Given the description of an element on the screen output the (x, y) to click on. 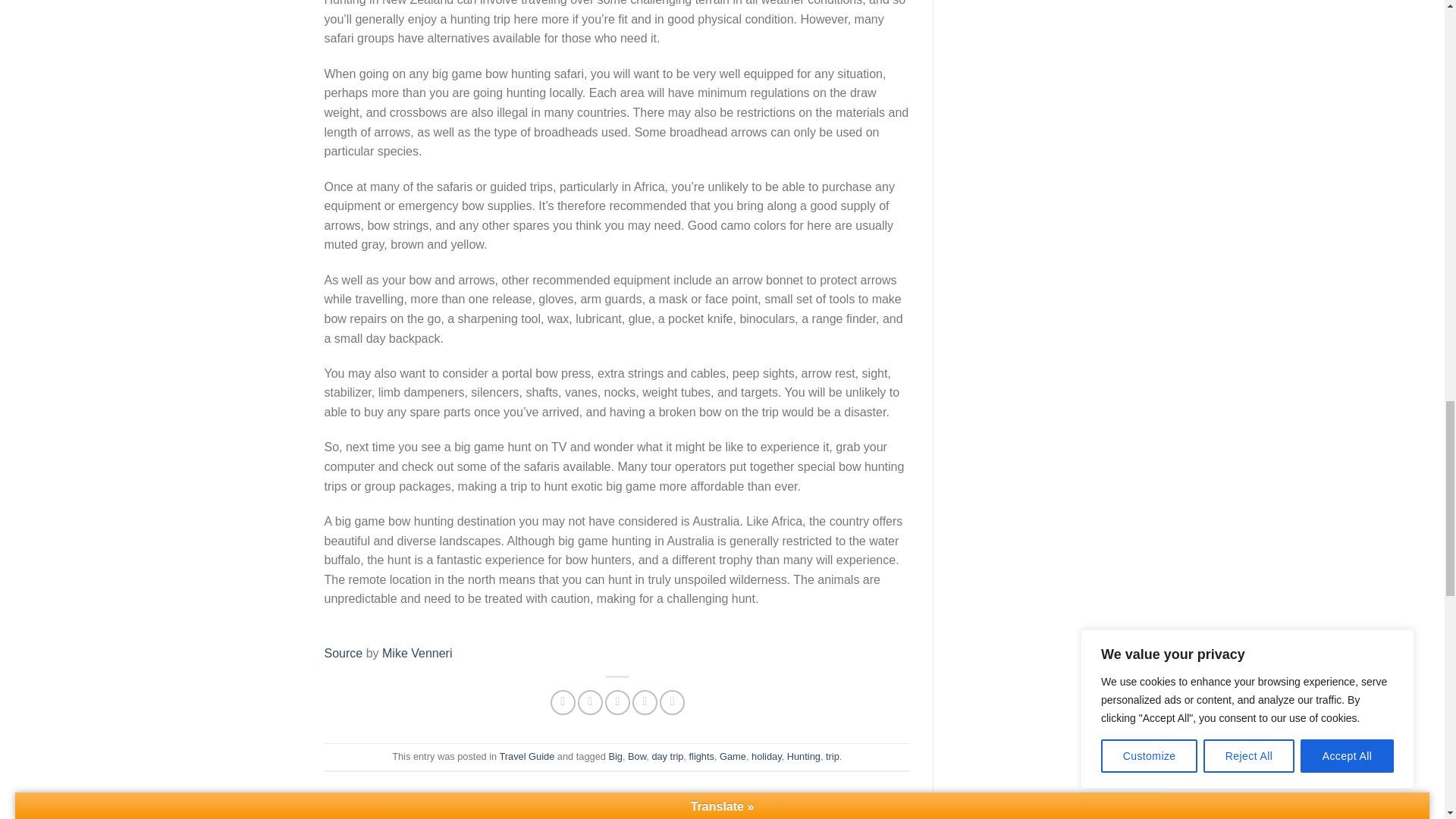
Email to a Friend (617, 702)
Share on Facebook (562, 702)
Pin on Pinterest (644, 702)
Share on LinkedIn (671, 702)
Share on Twitter (590, 702)
